Given the description of an element on the screen output the (x, y) to click on. 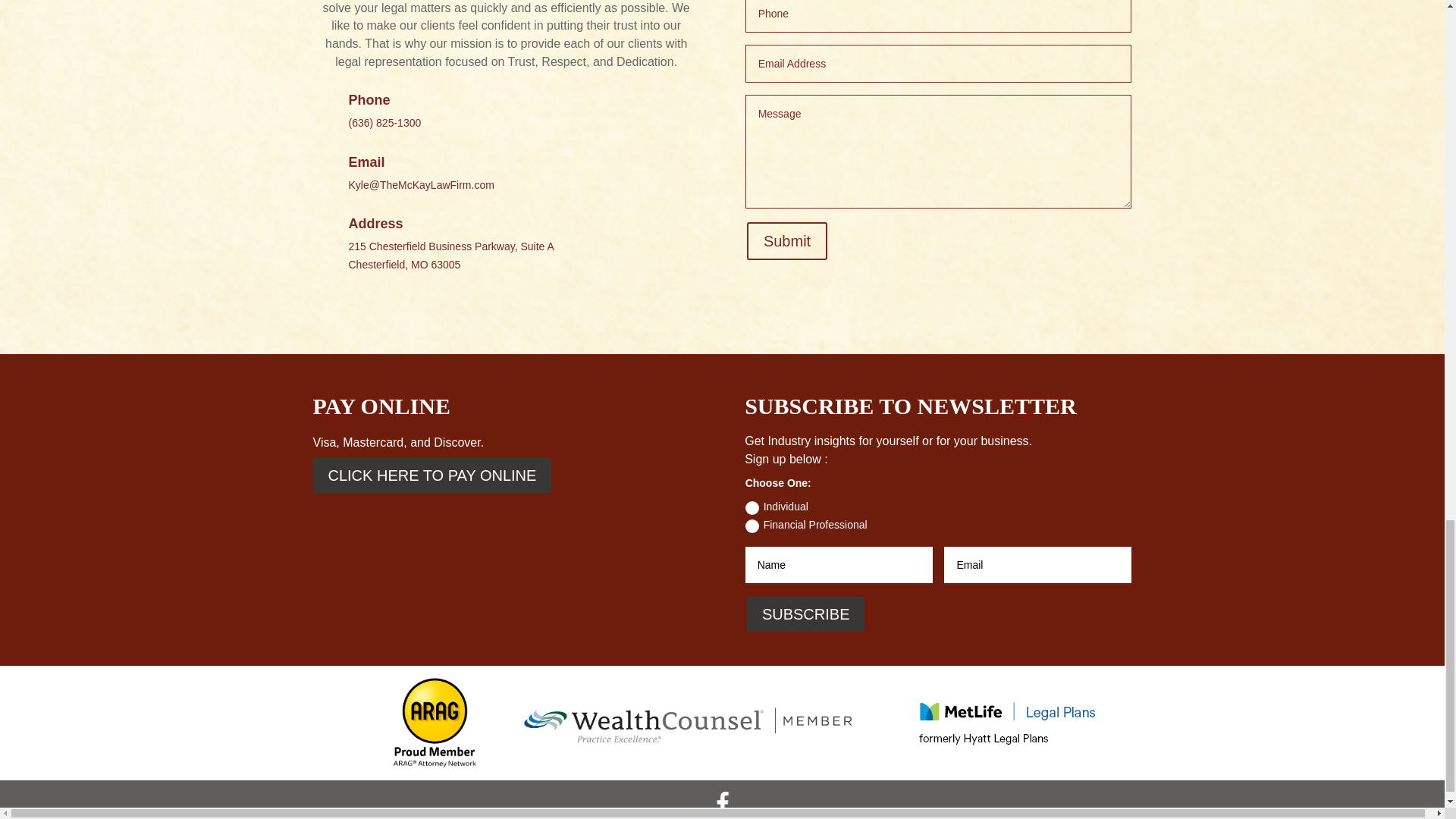
215 Chesterfield Business Parkway, Suite A (451, 246)
Chesterfield, MO 63005 (405, 264)
CLICK HERE TO PAY ONLINE (432, 475)
Submit (786, 240)
SUBSCRIBE (805, 614)
